Given the description of an element on the screen output the (x, y) to click on. 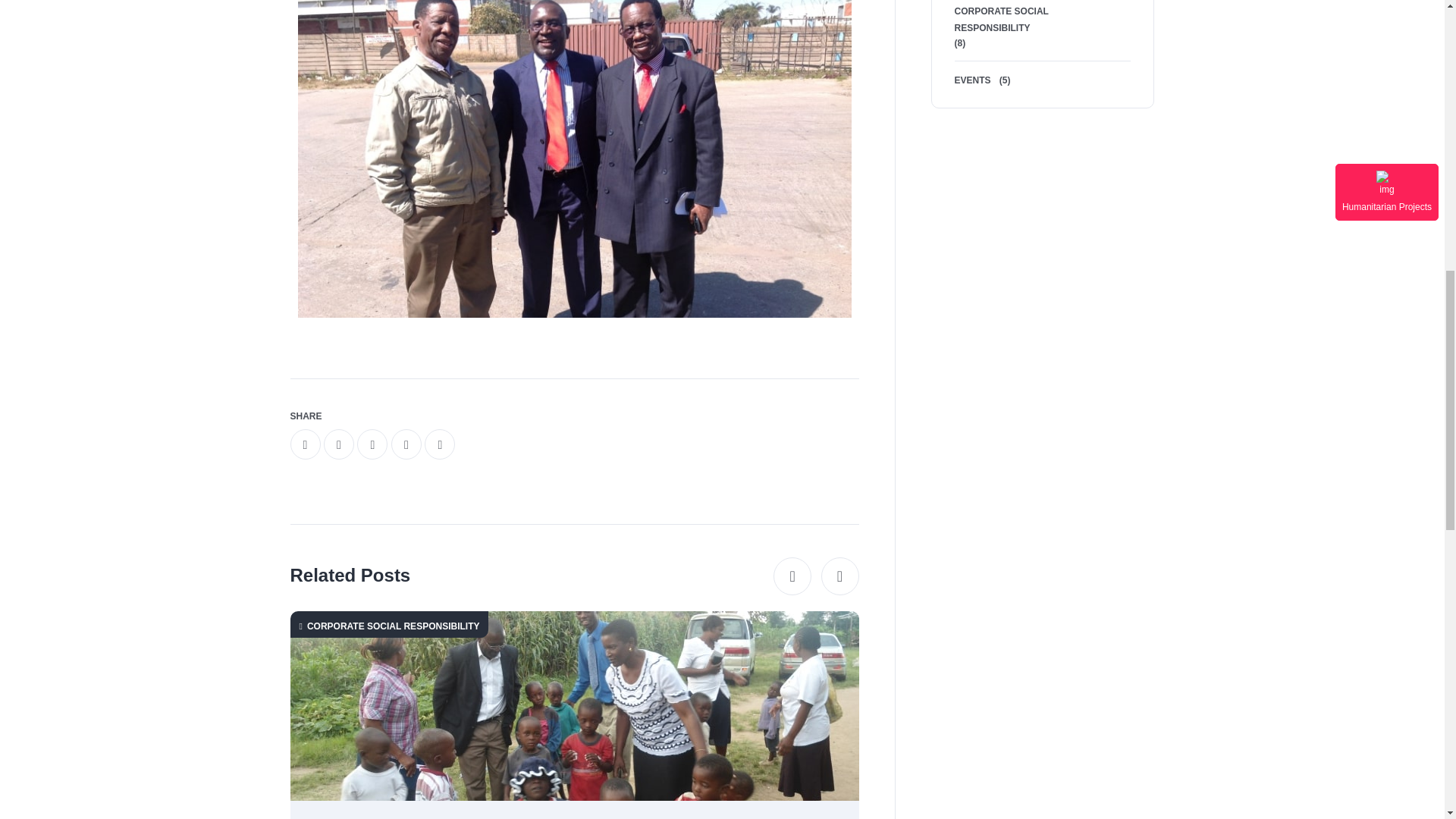
facebook (304, 444)
twitter (338, 444)
whatsapp (371, 444)
telegram (406, 444)
skype (439, 444)
